Given the description of an element on the screen output the (x, y) to click on. 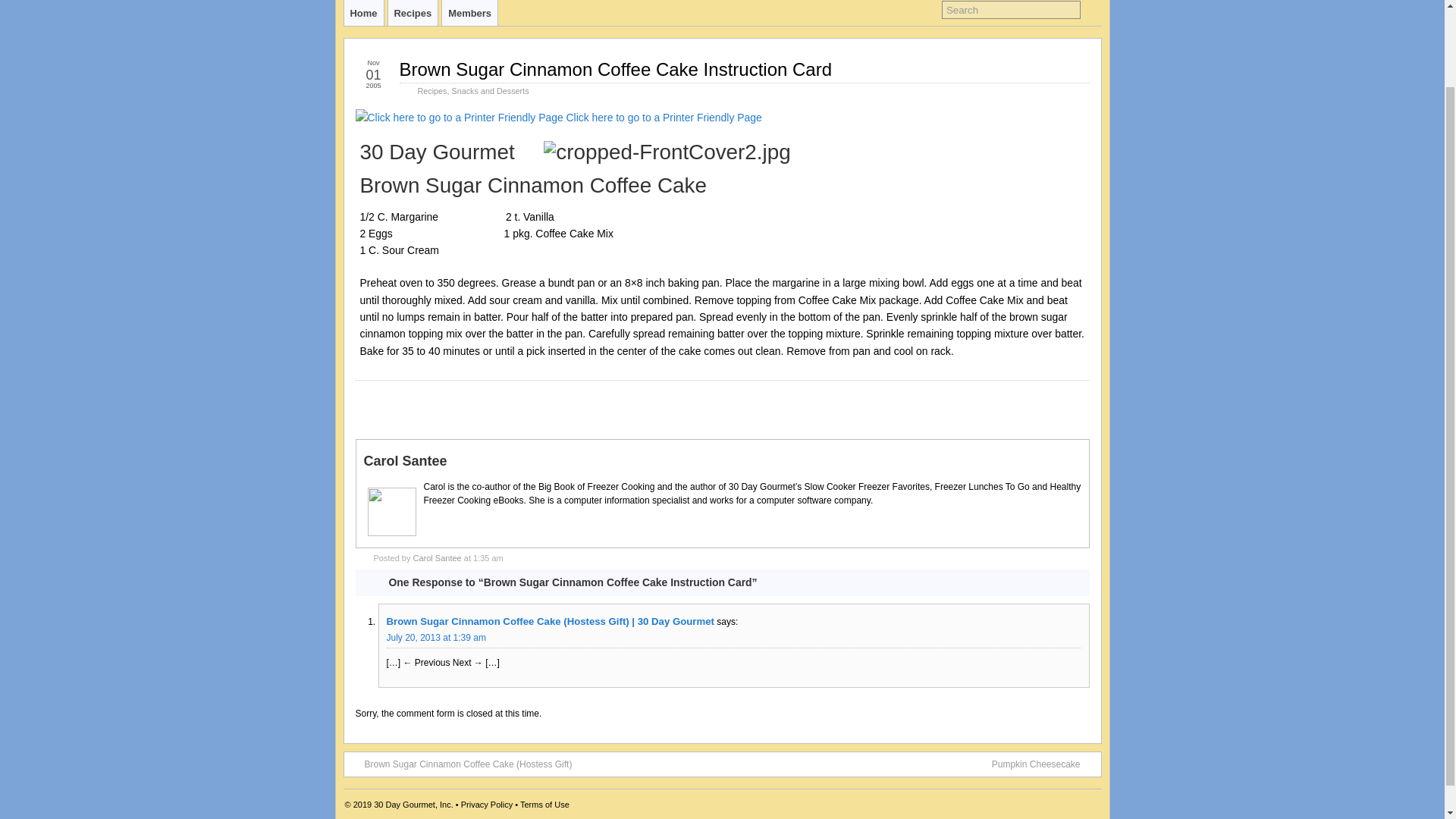
July 20, 2013 at 1:39 am (436, 637)
Brown Sugar Cinnamon Coffee Cake Instruction Card (614, 68)
Search (1011, 9)
Recipes (413, 12)
Click here to go to a Printer Friendly Page (663, 117)
Carol Santee (436, 557)
Brown Sugar Cinnamon Coffee Cake Instruction Card (614, 68)
Click here to go to a Printer Friendly Page (458, 117)
Click here to go to a Printer Friendly Page (458, 117)
Search (1011, 9)
Members (469, 12)
Terms of Use (544, 804)
Click here to go to a Printer Friendly Page (663, 117)
Home (363, 12)
30 Day Gourmet, Inc. (413, 804)
